Given the description of an element on the screen output the (x, y) to click on. 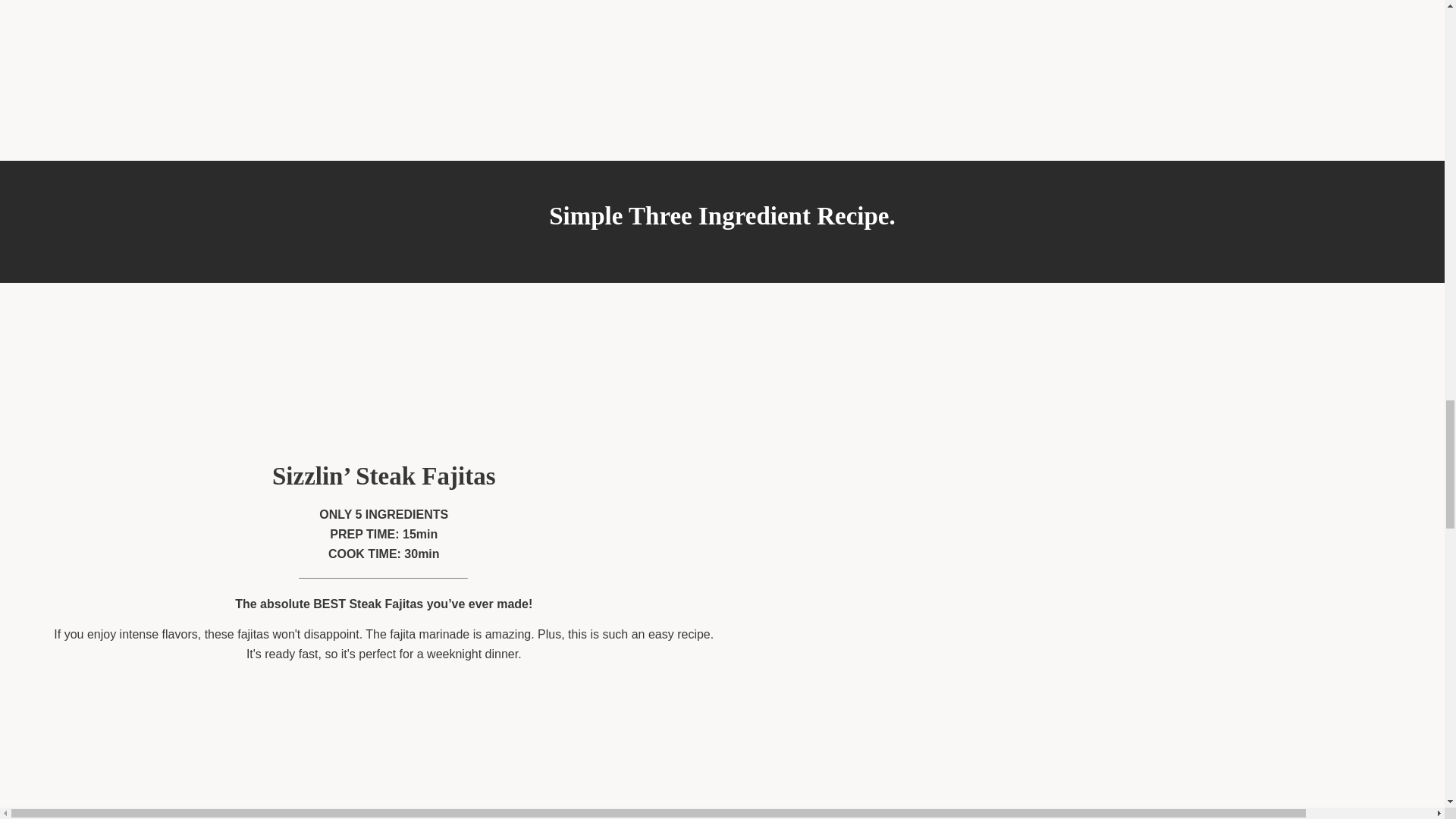
Simple Three Ingredient Recipe. (722, 221)
